Given the description of an element on the screen output the (x, y) to click on. 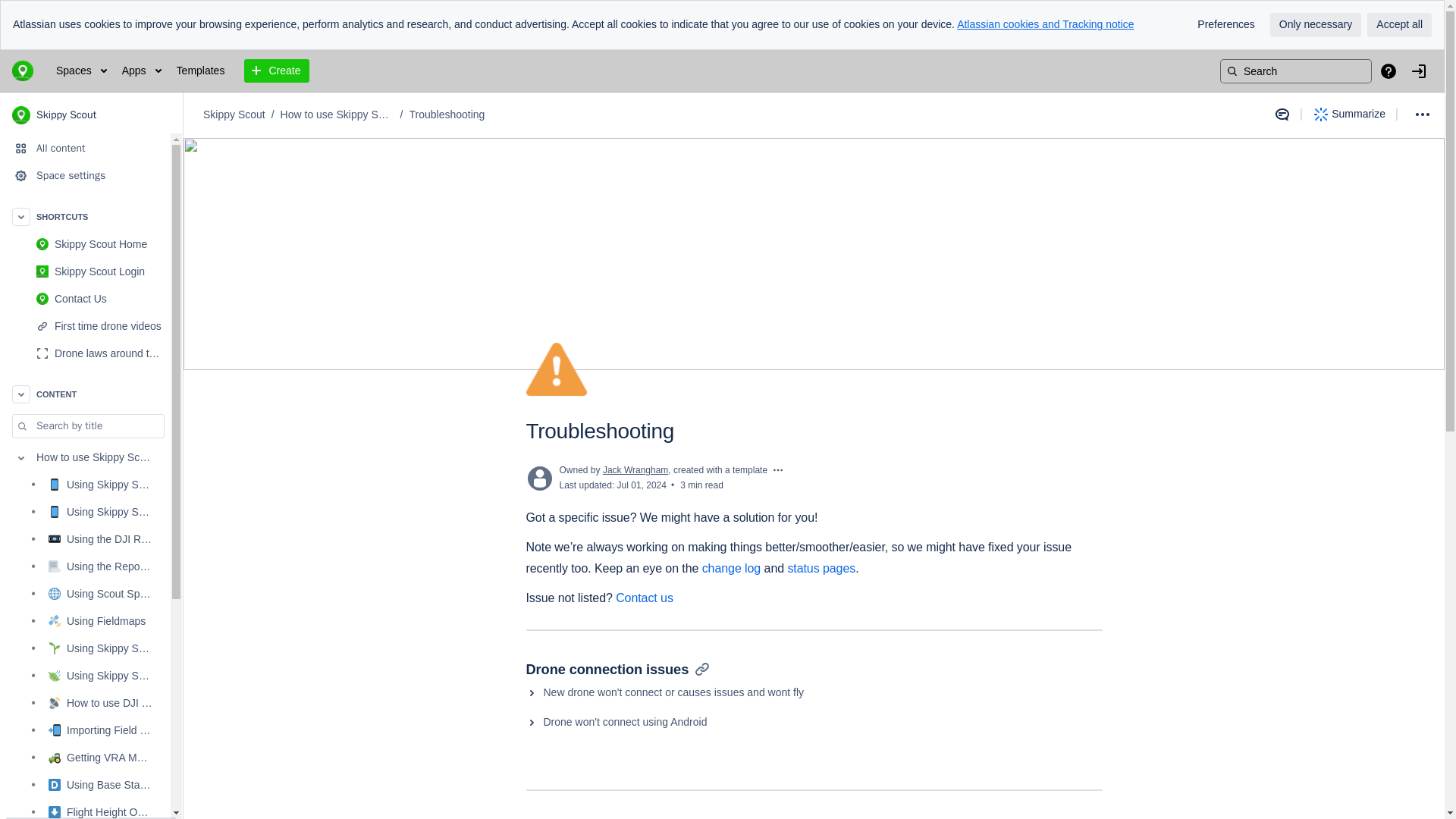
Skippy Scout Home (84, 243)
Accept all (1399, 24)
Contact Us (84, 298)
Drone laws around the world (84, 352)
Space settings (84, 175)
Apps (141, 70)
Spaces (81, 70)
Only necessary (1315, 24)
SHORTCUTS (84, 216)
Preferences (1225, 24)
First time drone videos (84, 325)
:warning: (555, 369)
Skippy Scout Home (101, 244)
Atlassian cookies and Tracking notice (1045, 24)
Skippy Scout (90, 114)
